Given the description of an element on the screen output the (x, y) to click on. 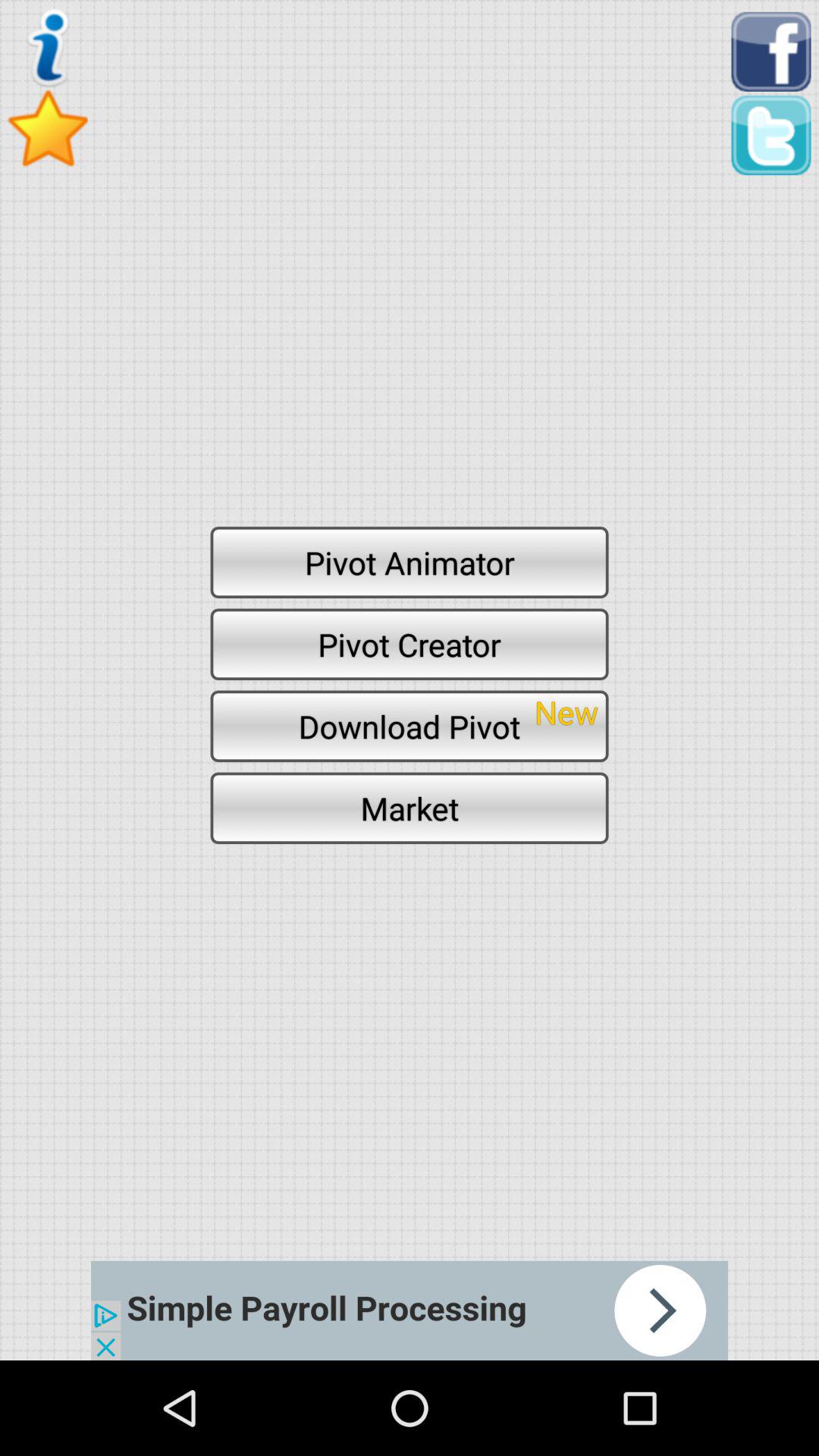
turn off the icon below pivot animator (409, 644)
